Given the description of an element on the screen output the (x, y) to click on. 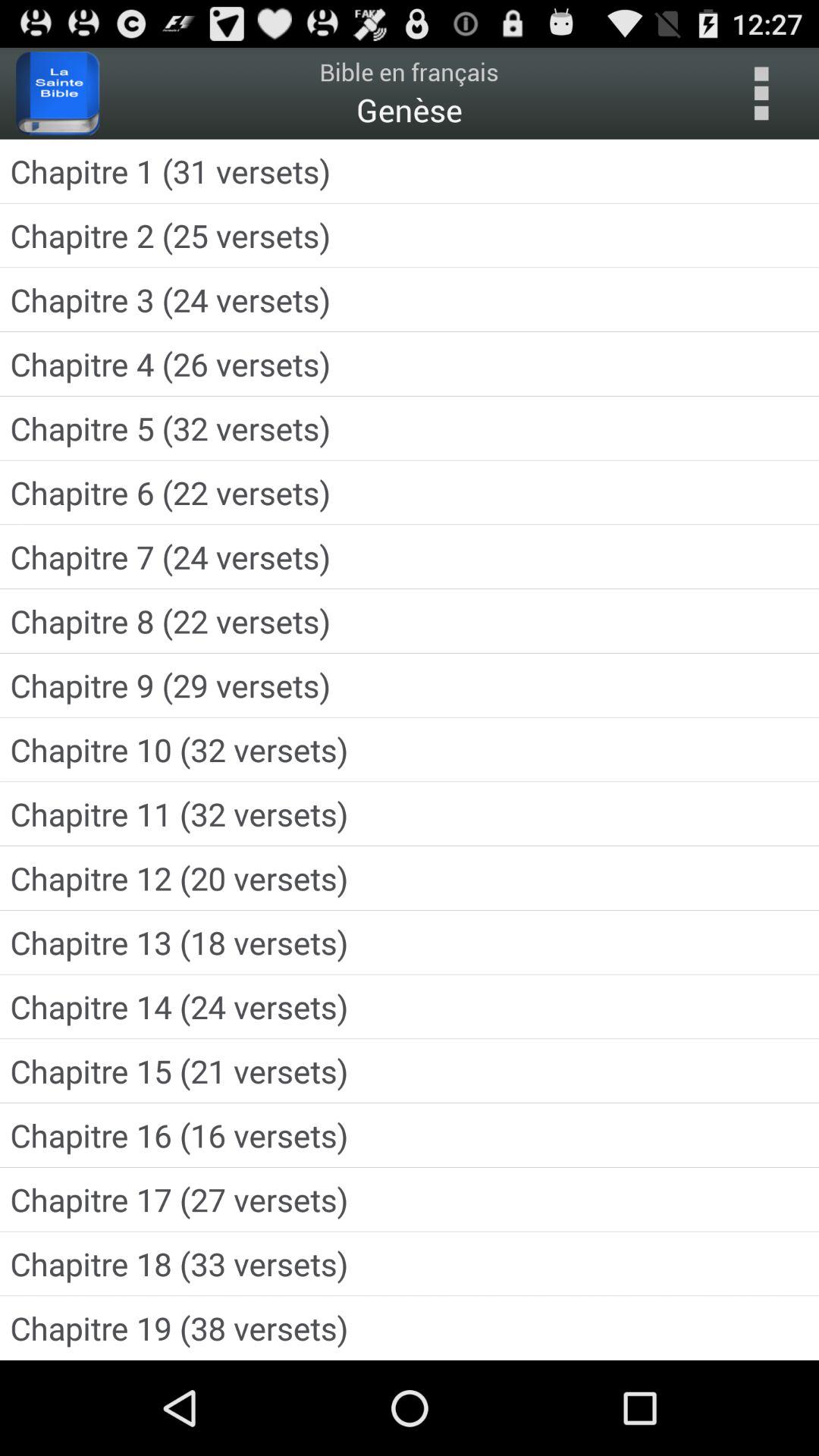
launch icon below the chapitre 3 24 item (409, 363)
